Given the description of an element on the screen output the (x, y) to click on. 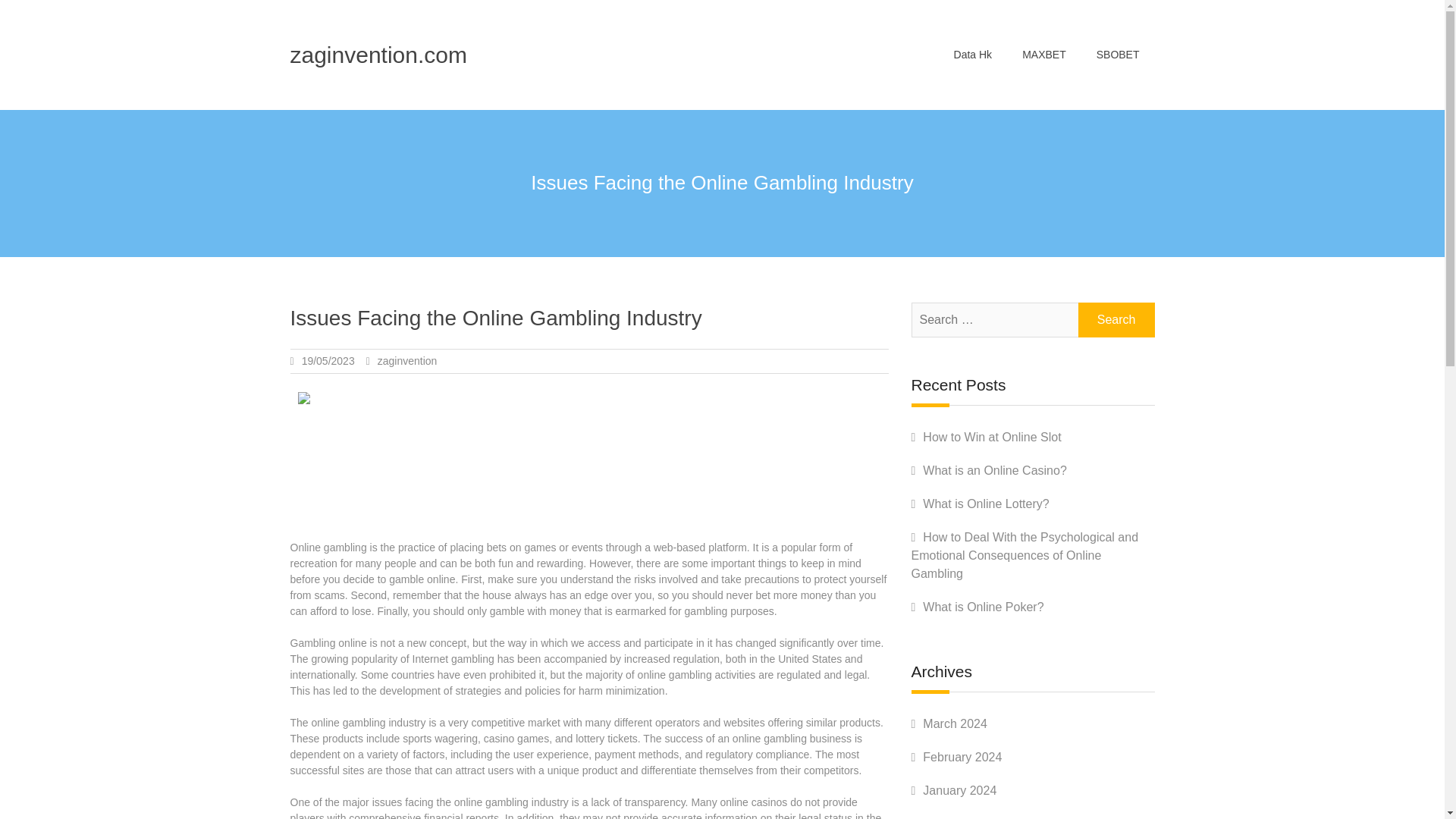
What is Online Poker? (983, 606)
January 2024 (959, 789)
Search (1116, 319)
February 2024 (962, 757)
Data Hk (973, 55)
December 2023 (966, 818)
What is Online Lottery? (985, 503)
What is an Online Casino? (994, 470)
zaginvention (407, 360)
